Given the description of an element on the screen output the (x, y) to click on. 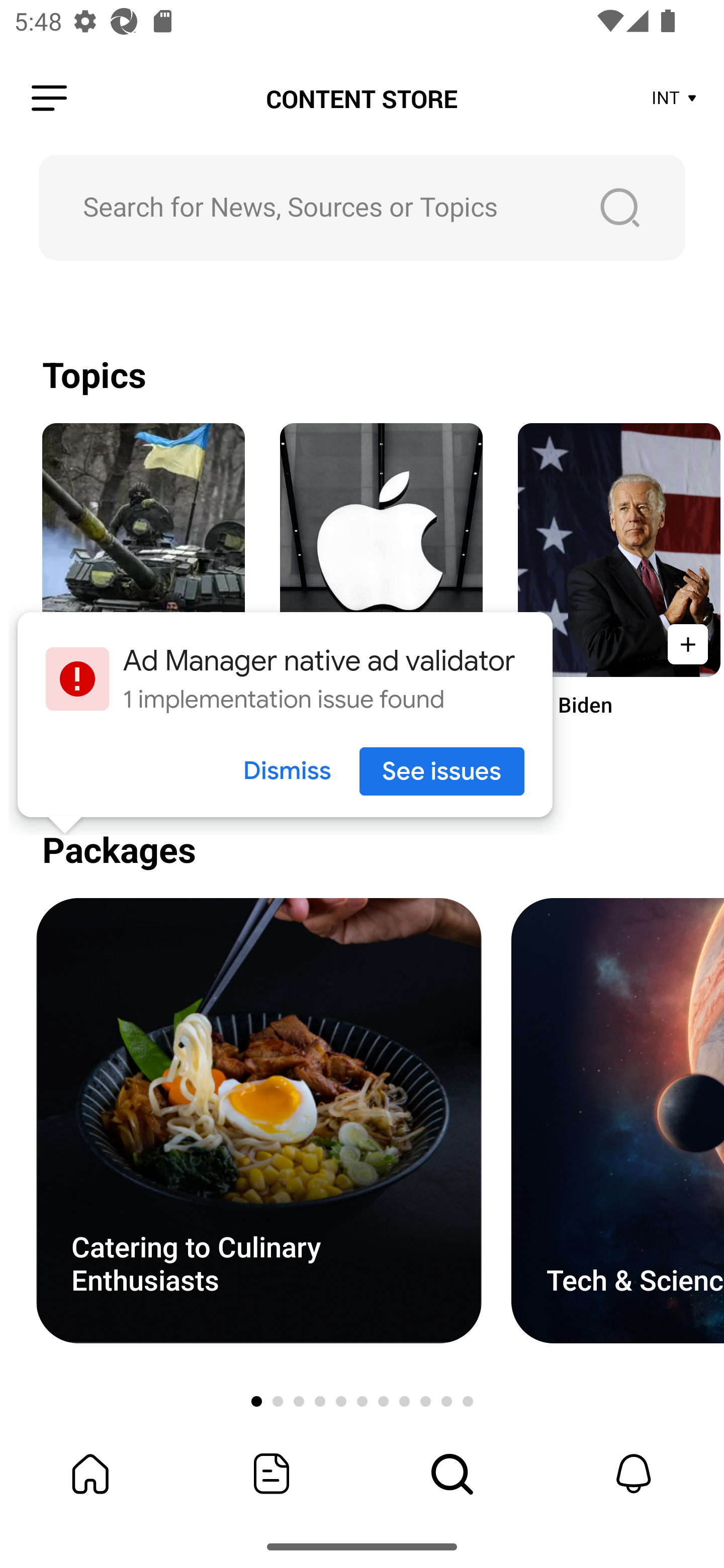
INT Store Area (674, 98)
Leading Icon (49, 98)
Search for News, Sources or Topics Search Button (361, 207)
Add To My Bundle (684, 644)
My Bundle (90, 1473)
Featured (271, 1473)
Notifications (633, 1473)
